Given the description of an element on the screen output the (x, y) to click on. 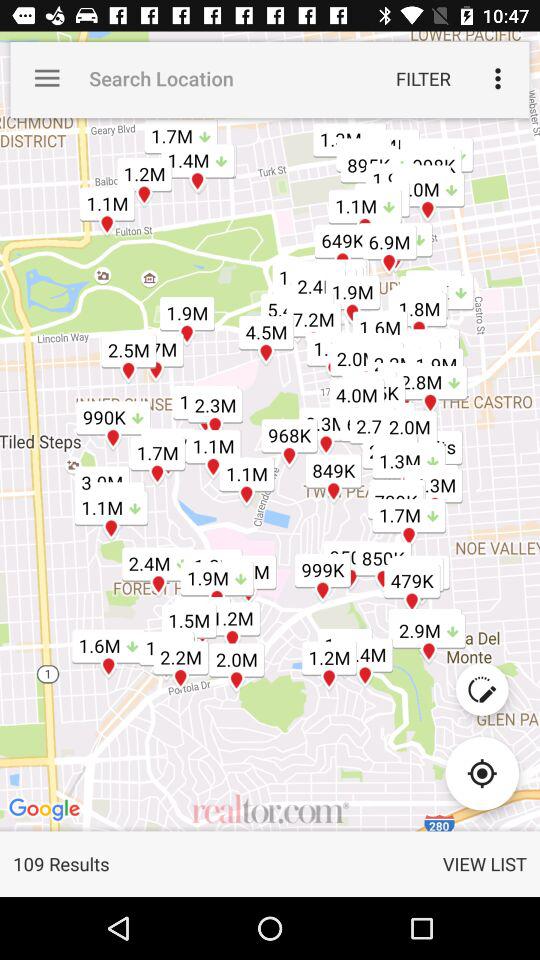
click the app to the left of the search location icon (47, 78)
